Given the description of an element on the screen output the (x, y) to click on. 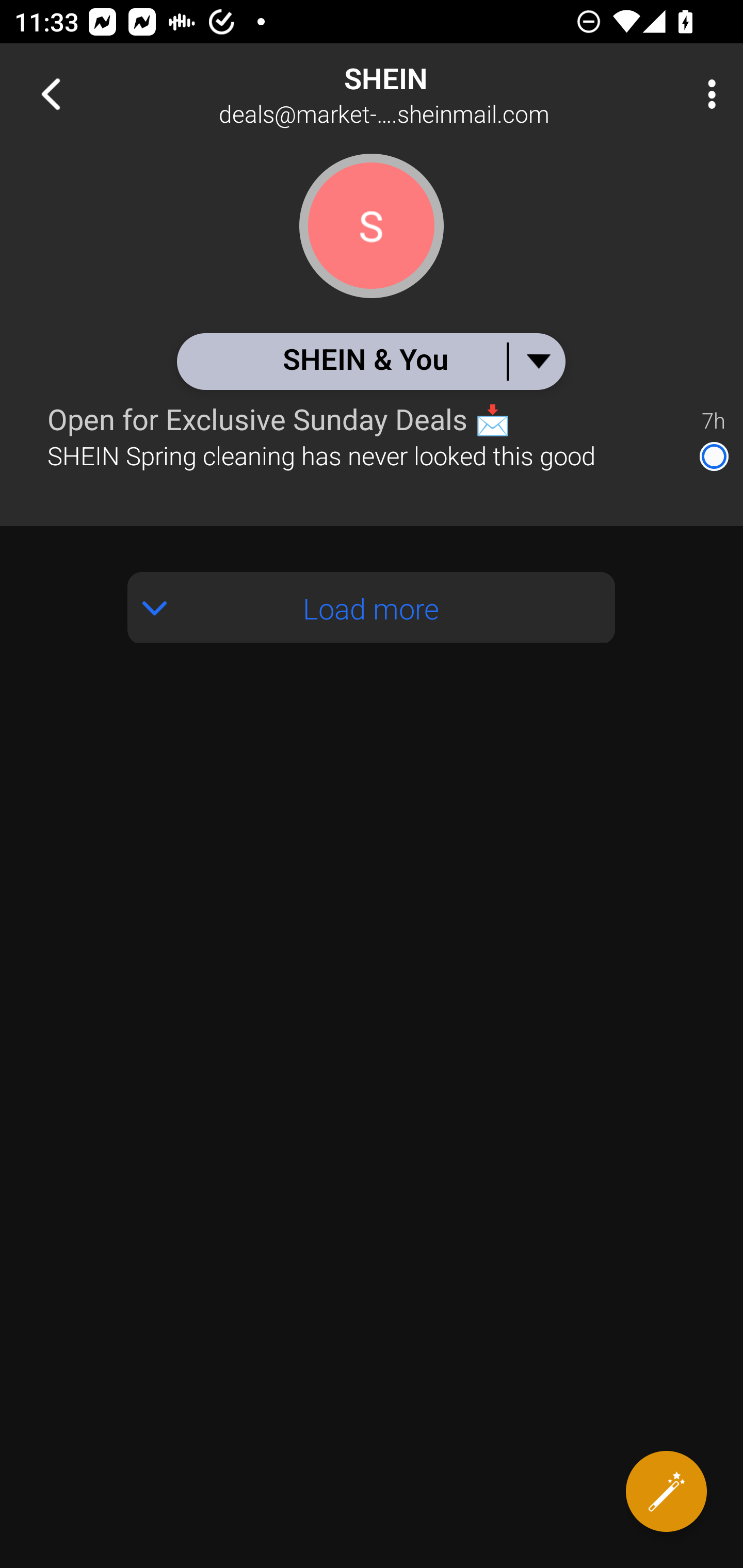
Navigate up (50, 93)
SHEIN deals@market-us.sheinmail.com (436, 93)
More Options (706, 93)
SHEIN & You (370, 361)
Load more (371, 607)
